Given the description of an element on the screen output the (x, y) to click on. 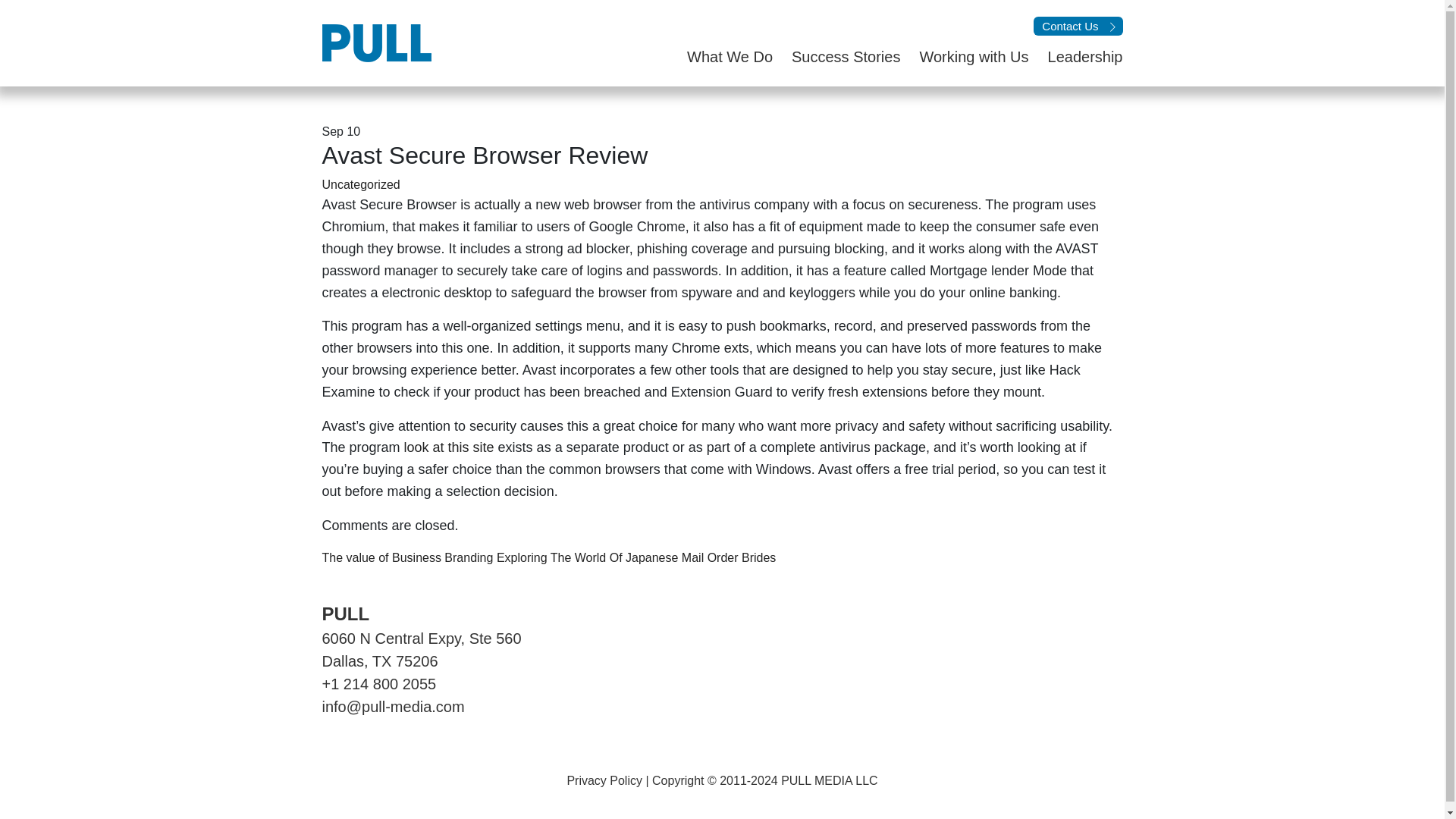
Contact Us (1077, 26)
PULL (345, 613)
Leadership (1075, 56)
Success Stories (836, 56)
The value of Business Branding (407, 557)
Working with Us (963, 56)
Uncategorized (359, 184)
Privacy Policy (604, 780)
look at this site (449, 447)
Exploring The World Of Japanese Mail Order Brides (636, 557)
What We Do (720, 56)
